Given the description of an element on the screen output the (x, y) to click on. 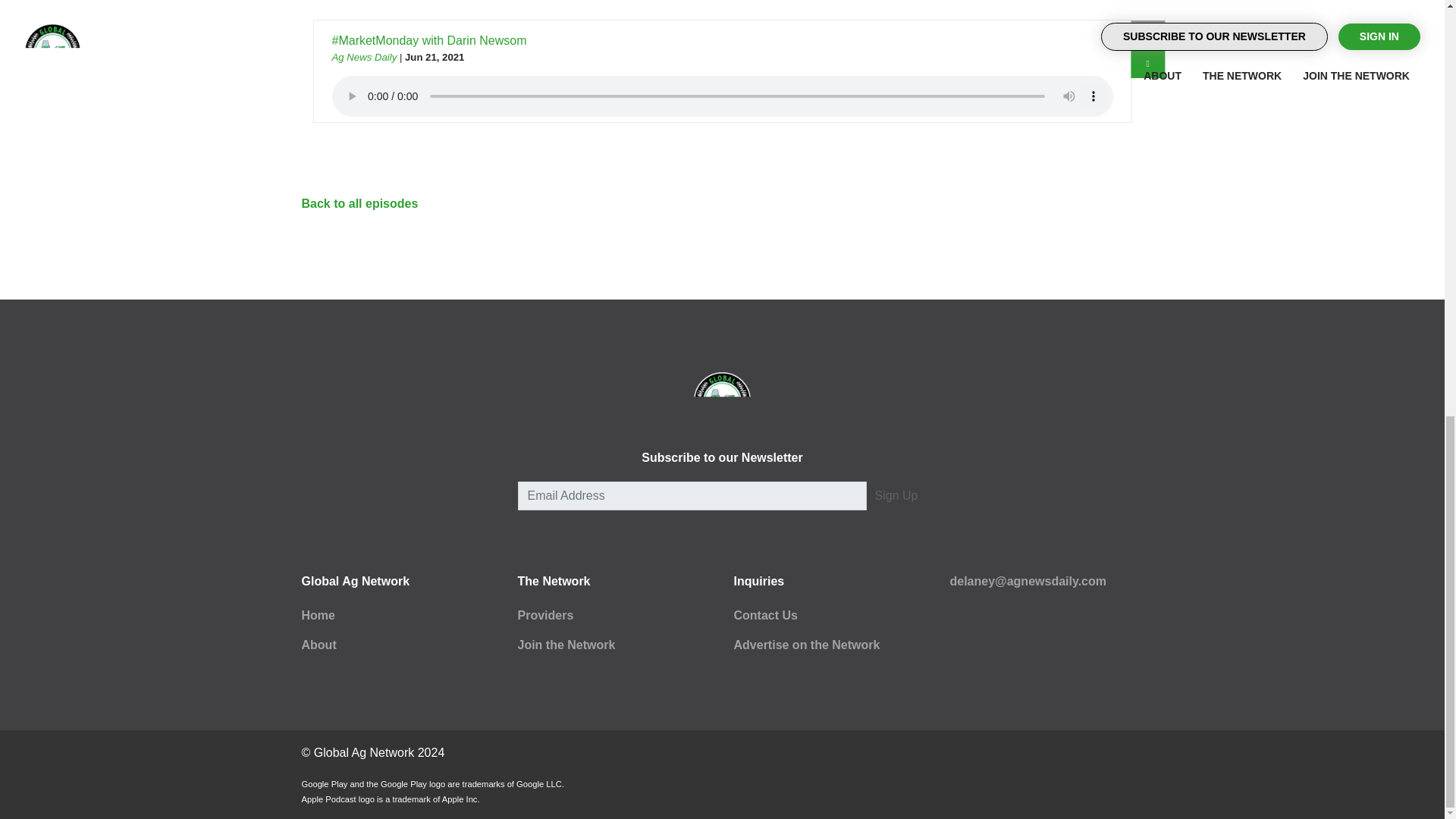
Providers (544, 615)
Join the Network (565, 644)
Advertise on the Network (806, 644)
Home (317, 615)
Sign Up (896, 495)
Contact Us (765, 615)
About (318, 644)
Back to all episodes (360, 203)
Embed This Episode (1147, 34)
Ag News Daily (364, 57)
